Given the description of an element on the screen output the (x, y) to click on. 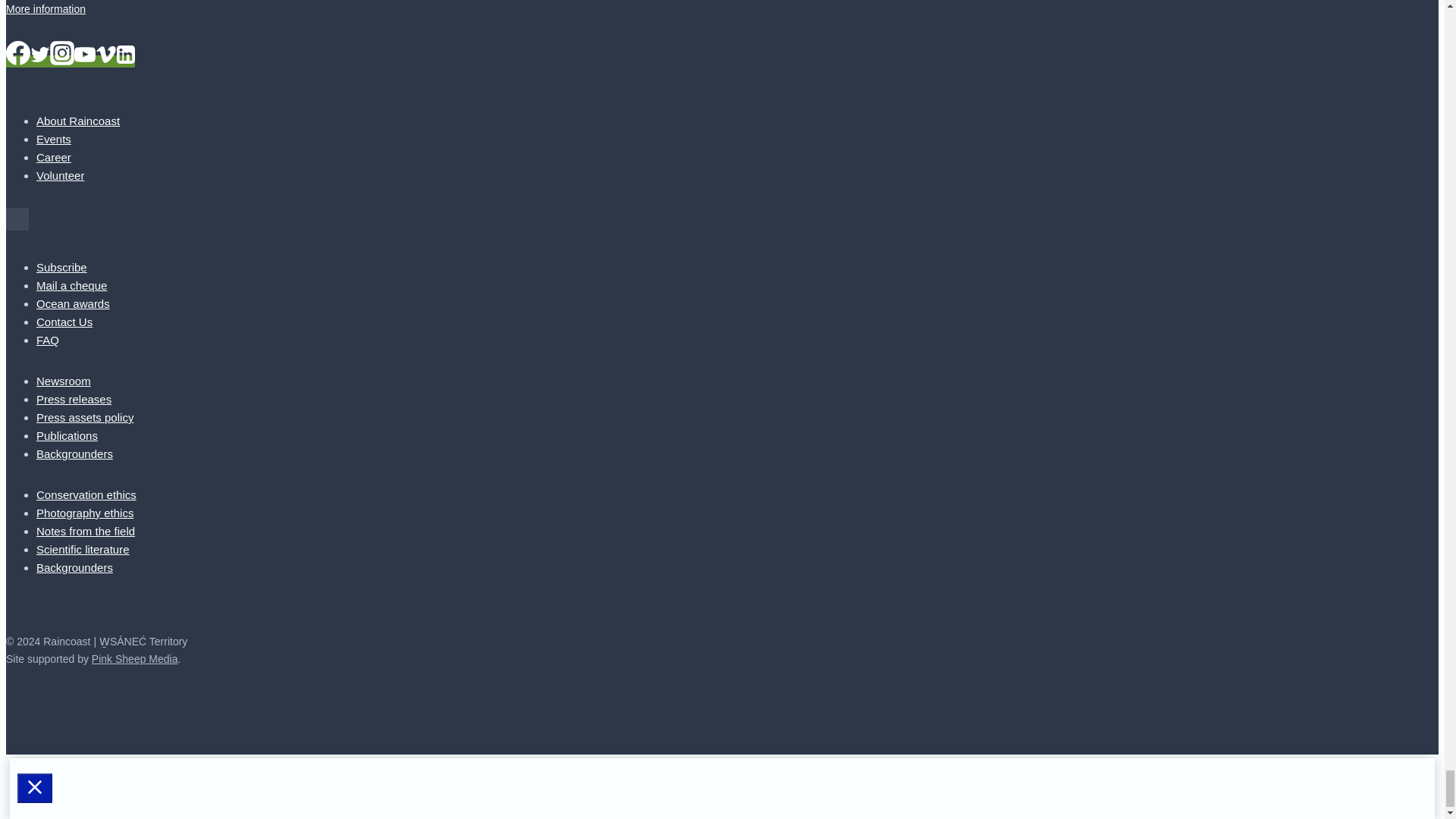
YouTube (85, 54)
Facebook (17, 52)
Vimeo (106, 54)
Twitter (39, 54)
Instagram (61, 52)
